Given the description of an element on the screen output the (x, y) to click on. 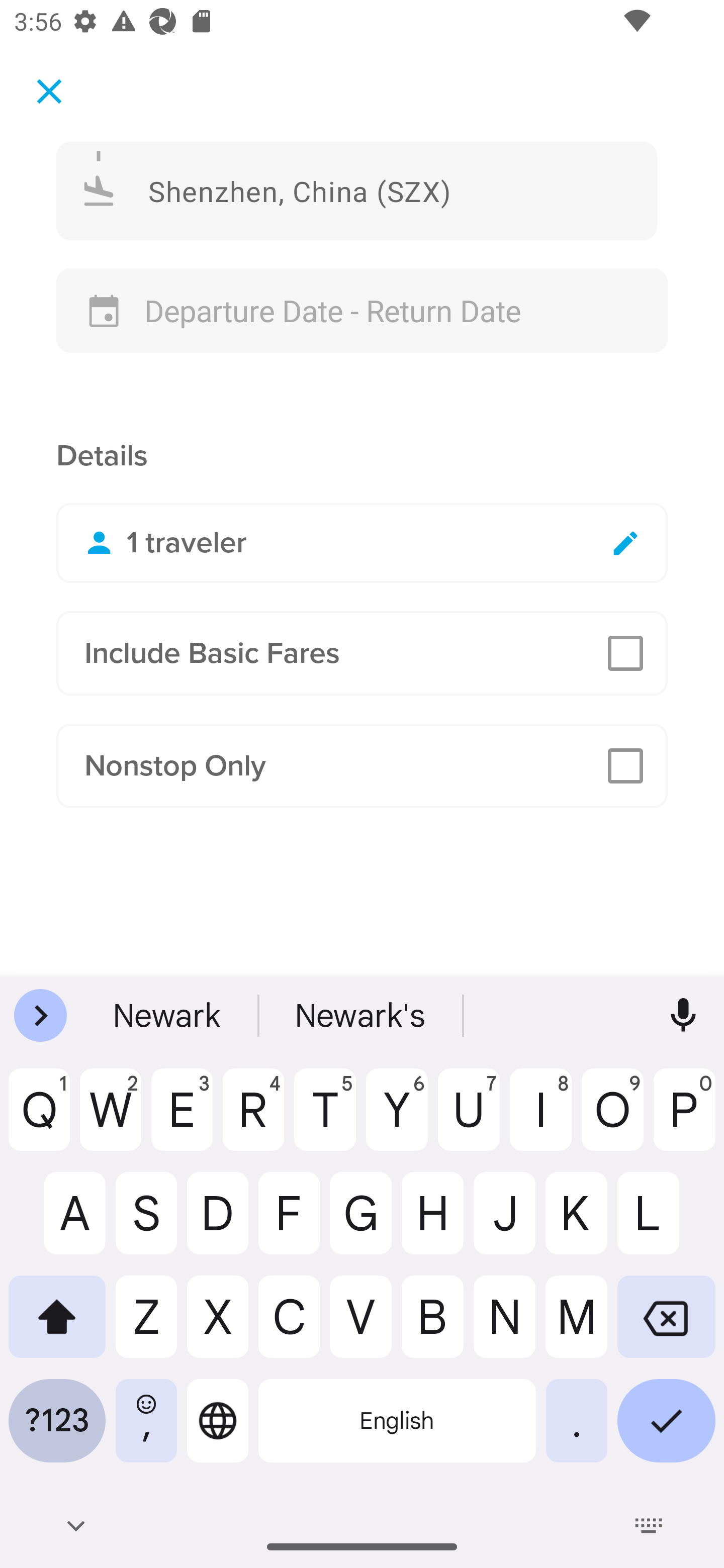
Cancel (49, 90)
Shenzhen, China (SZX) (356, 190)
Departure Date - Return Date (361, 310)
1 traveler Edit Travelers (361, 542)
Include Basic Fares (361, 653)
Nonstop Only (361, 765)
